Given the description of an element on the screen output the (x, y) to click on. 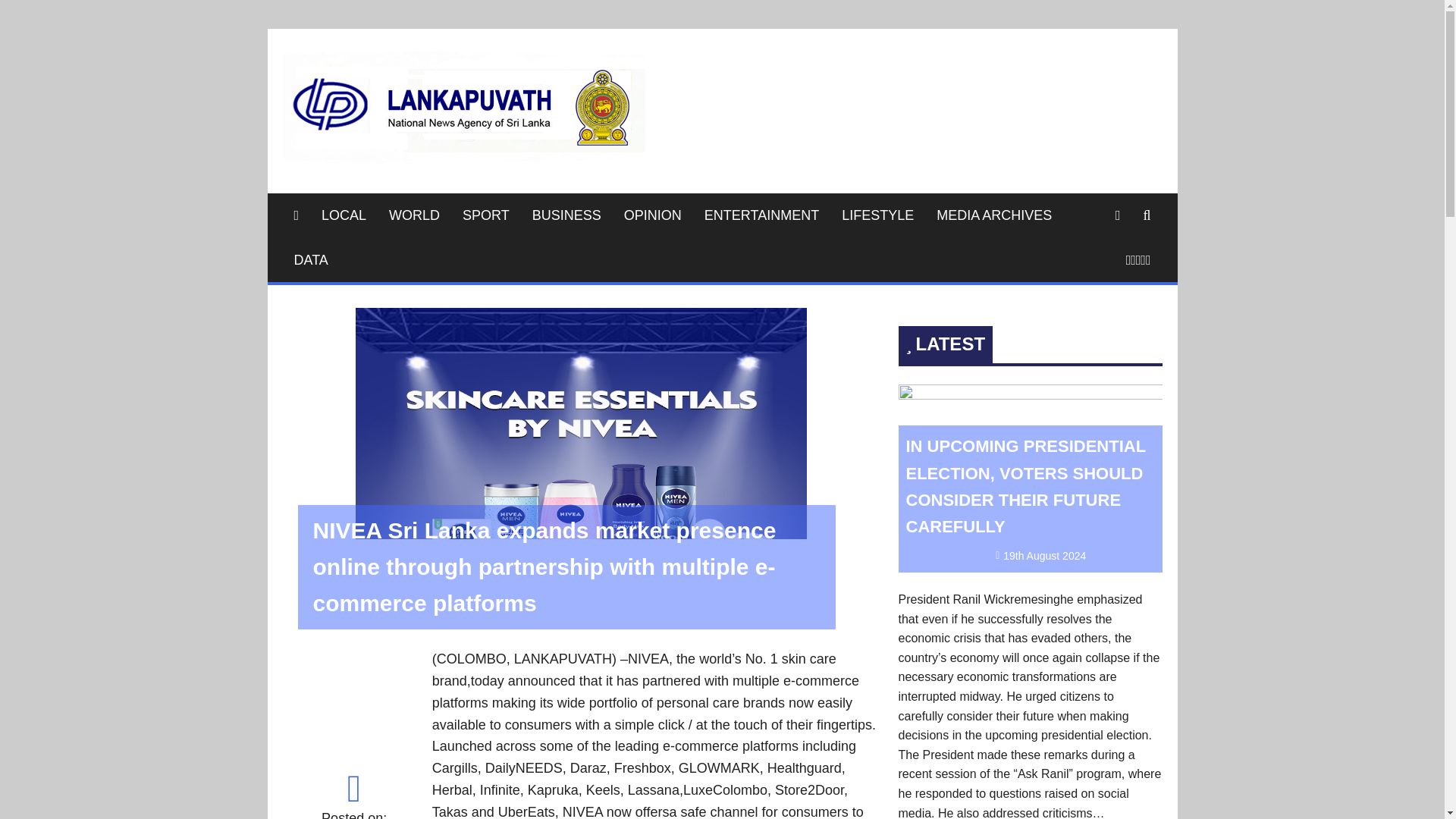
LIFESTYLE (876, 215)
DATA (310, 260)
ENTERTAINMENT (761, 215)
BUSINESS (566, 215)
WORLD (414, 215)
Lanka Puvath (748, 72)
MEDIA ARCHIVES (993, 215)
